Given the description of an element on the screen output the (x, y) to click on. 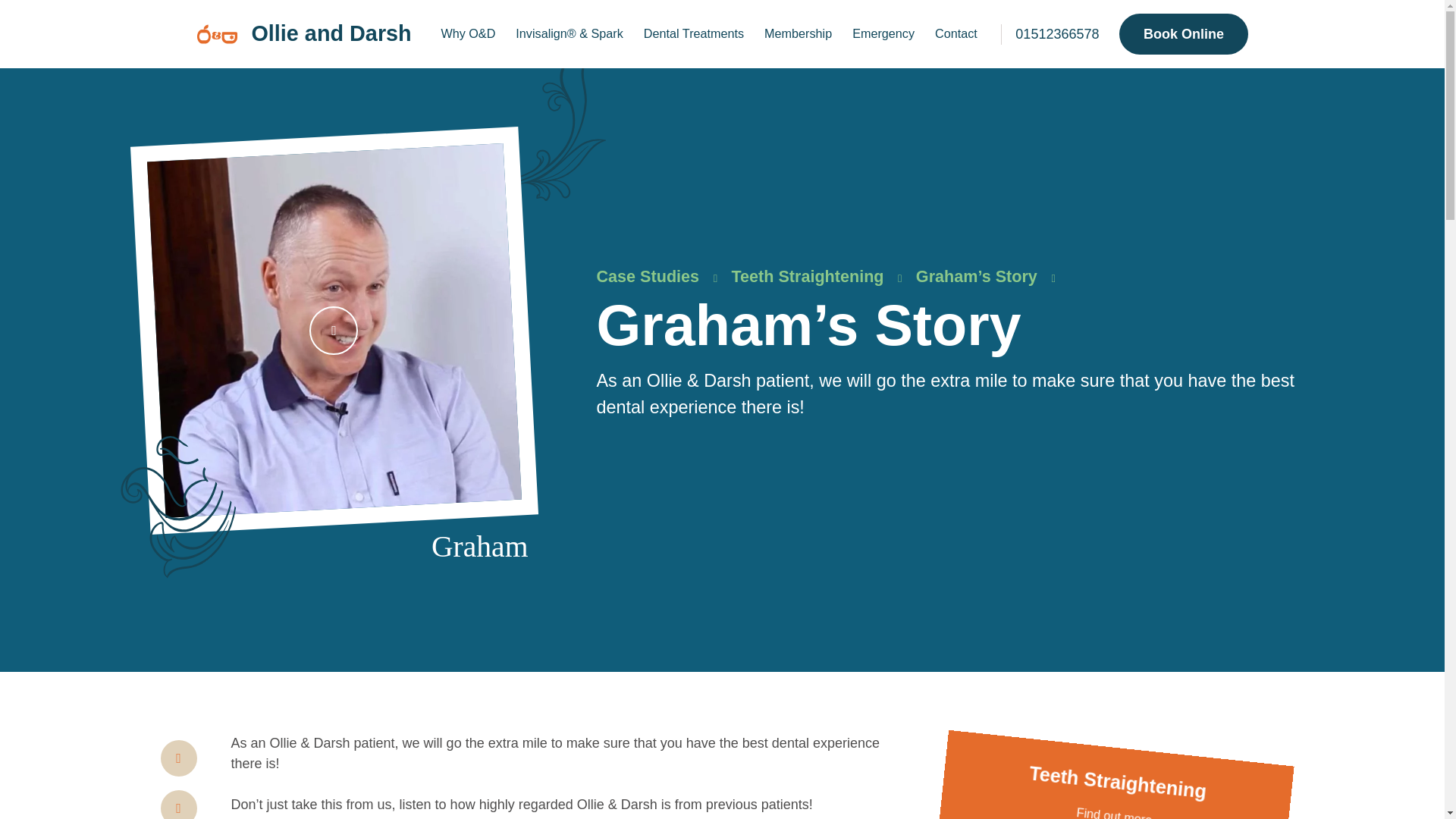
01512366578 (1050, 34)
Ollie and Darsh (304, 33)
Dental Treatments (693, 33)
Share on Twitter (178, 804)
Book Online (1183, 33)
Share on Facebook (178, 758)
